Given the description of an element on the screen output the (x, y) to click on. 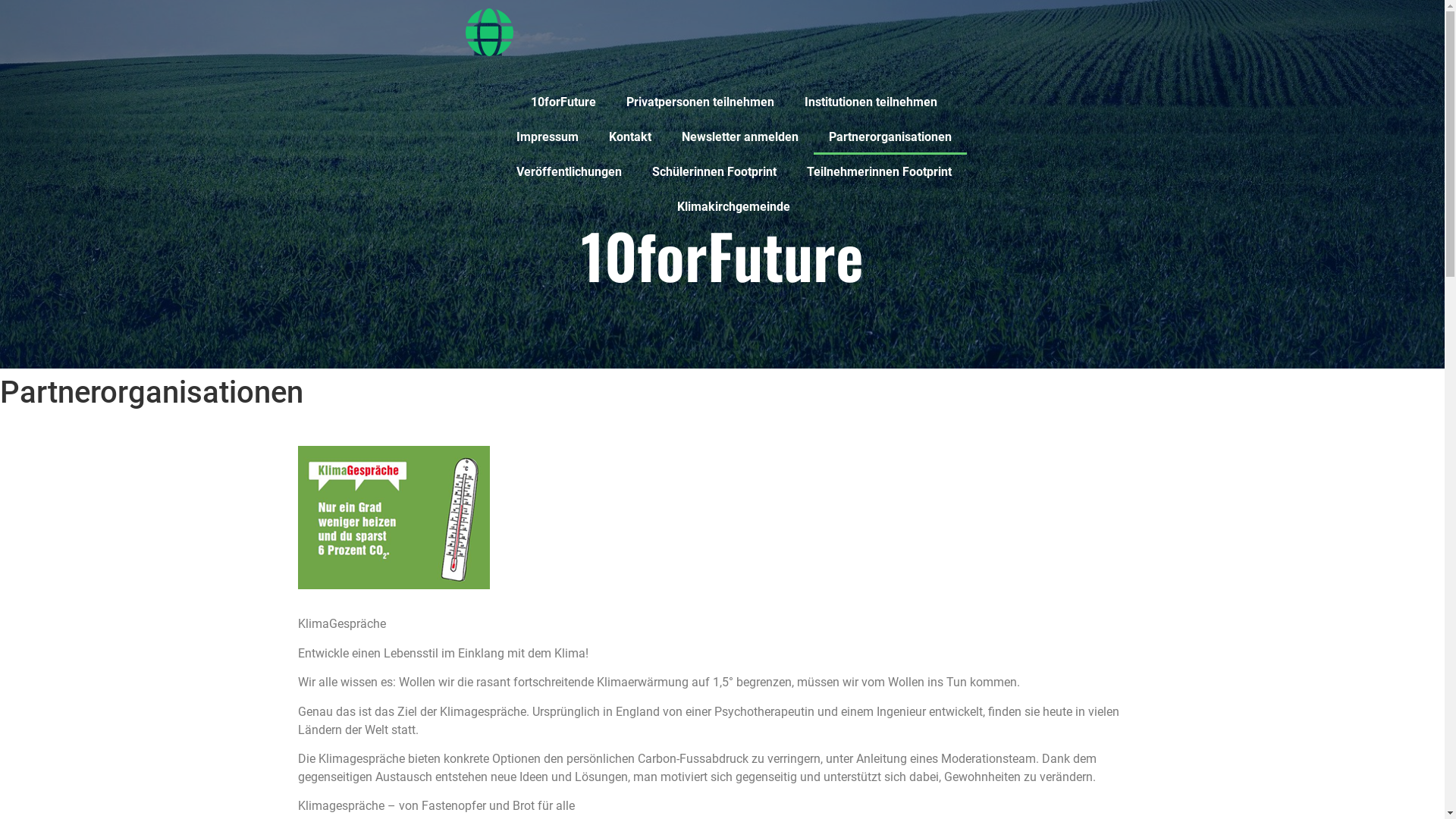
Privatpersonen teilnehmen Element type: text (700, 101)
Institutionen teilnehmen Element type: text (869, 101)
10forFuture Element type: text (563, 101)
Kontakt Element type: text (629, 136)
Partnerorganisationen Element type: text (889, 136)
Impressum Element type: text (546, 136)
Klimakirchgemeinde Element type: text (733, 206)
Teilnehmerinnen Footprint Element type: text (878, 171)
Newsletter anmelden Element type: text (738, 136)
